Given the description of an element on the screen output the (x, y) to click on. 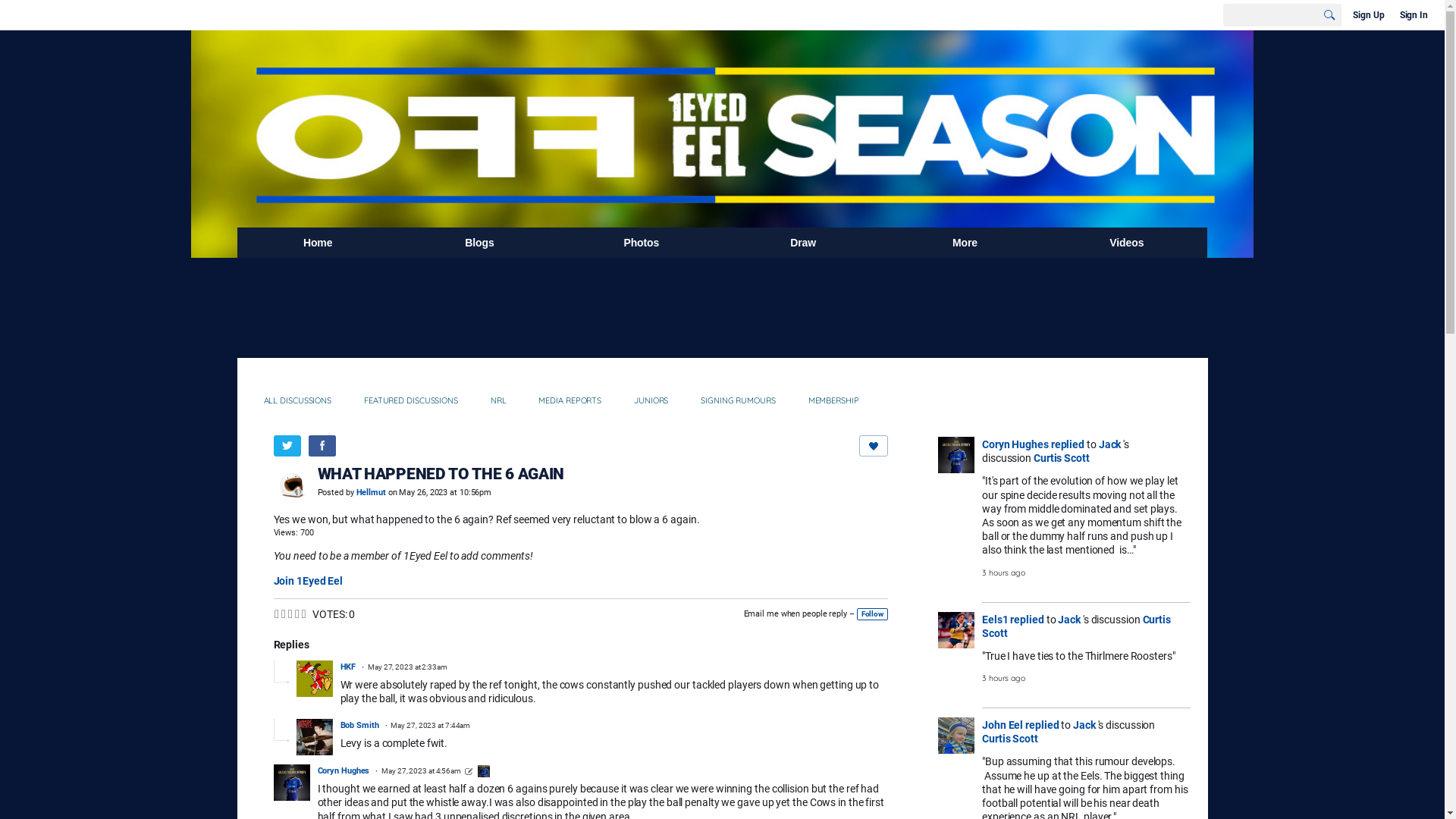
HKF Element type: text (347, 666)
Facebook Element type: hover (321, 445)
Coryn Hughes Element type: hover (483, 771)
Follow Element type: text (872, 614)
Join 1Eyed Eel Element type: text (307, 580)
Sign Up Element type: text (1368, 14)
replied Element type: text (1026, 618)
Eels1 Element type: text (995, 618)
Coryn Hughes Element type: text (342, 770)
Advertisement Element type: hover (721, 307)
MEMBERSHIP Element type: text (833, 400)
Videos Element type: text (1126, 242)
FEATURED DISCUSSIONS Element type: text (410, 400)
Bob Smith Element type: text (358, 725)
Curtis Scott Element type: text (1010, 738)
Jack Element type: text (1110, 444)
replied Element type: text (1067, 444)
Jack Element type: text (1069, 618)
Home Element type: text (317, 242)
JUNIORS Element type: text (650, 400)
Sign In Element type: text (1413, 14)
ALL DISCUSSIONS Element type: text (297, 400)
replied Element type: text (1041, 724)
Coryn Hughes Element type: text (1015, 444)
Like Element type: hover (873, 445)
WHAT HAPPENED TO THE 6 AGAIN Element type: text (440, 473)
Draw Element type: text (802, 242)
1Eyed Eel Element type: text (722, 52)
Jack Element type: text (1085, 724)
Curtis Scott Element type: text (1076, 625)
Photos Element type: text (640, 242)
MEDIA REPORTS Element type: text (569, 400)
Twitter Element type: hover (286, 445)
Edited, May 27, 2023 at 4:57am Element type: hover (468, 771)
NRL Element type: text (498, 400)
SIGNING RUMOURS Element type: text (738, 400)
Curtis Scott Element type: text (1061, 457)
More Element type: text (964, 242)
Hellmut Element type: text (370, 492)
John Eel Element type: text (1002, 724)
Blogs Element type: text (479, 242)
